Given the description of an element on the screen output the (x, y) to click on. 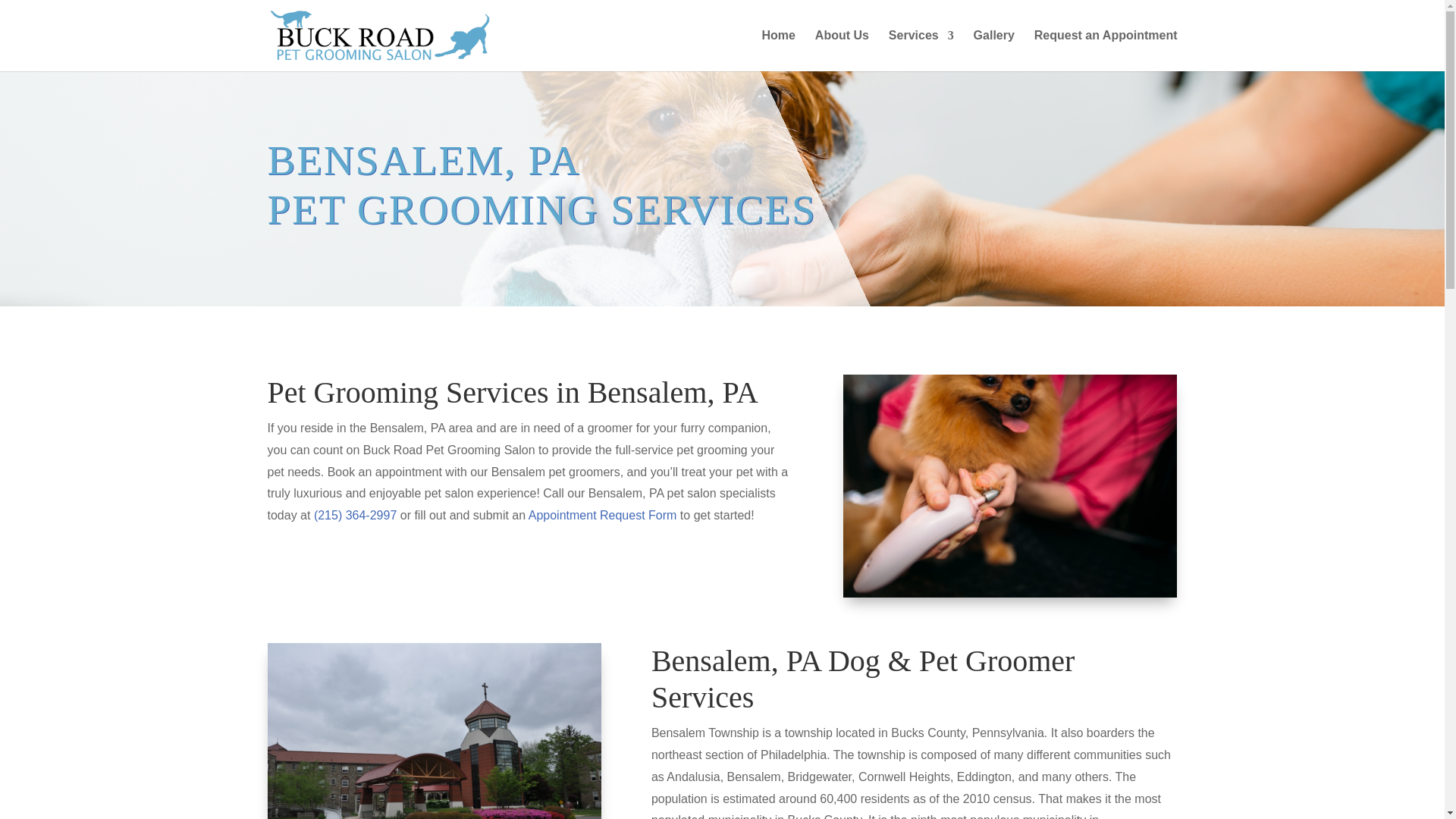
About Us (842, 50)
Home (777, 50)
Bensalem, PA Pet Grooming Services (432, 730)
Services (920, 50)
Appointment Request Form (602, 514)
Request an Appointment (1105, 50)
Gallery (994, 50)
Bensalem, PA Pet Grooming Appointment Request Form (602, 514)
